Given the description of an element on the screen output the (x, y) to click on. 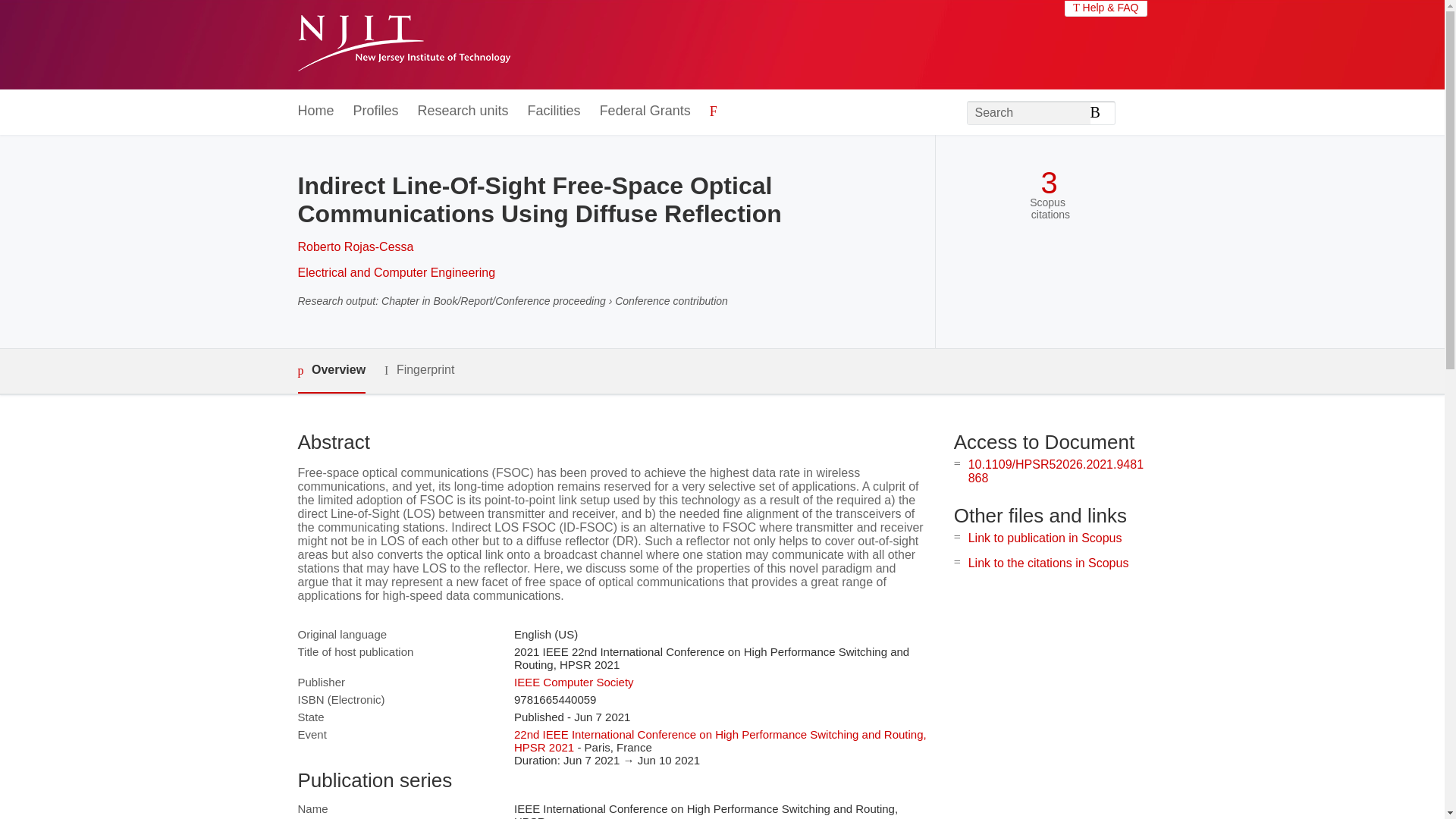
Research units (462, 111)
Overview (331, 370)
Link to the citations in Scopus (1048, 562)
Fingerprint (419, 370)
Facilities (553, 111)
Roberto Rojas-Cessa (355, 246)
Federal Grants (644, 111)
Profiles (375, 111)
Electrical and Computer Engineering (396, 272)
